Given the description of an element on the screen output the (x, y) to click on. 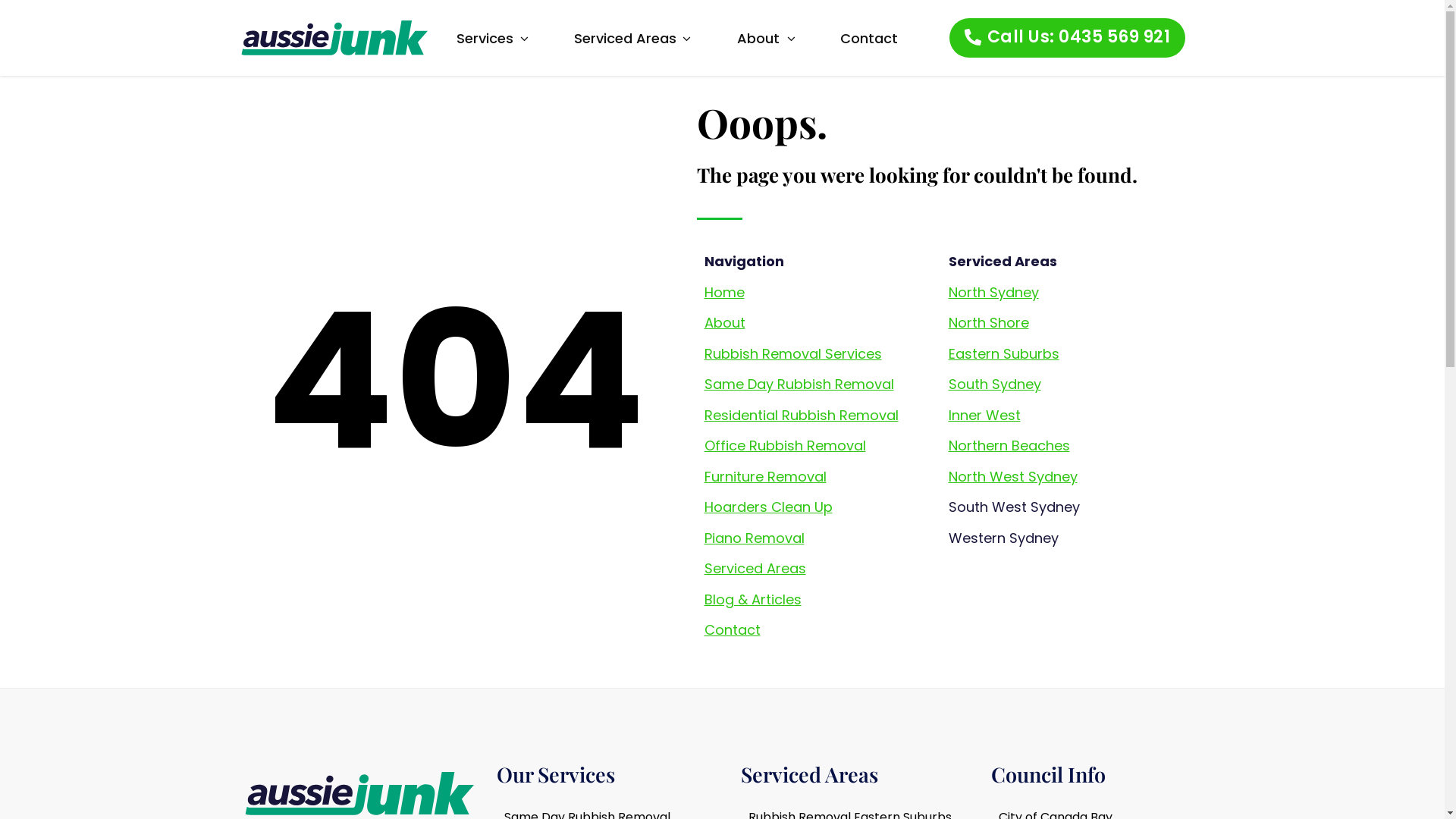
Piano Removal Element type: text (753, 537)
Hoarders Clean Up Element type: text (767, 506)
Furniture Removal Element type: text (764, 476)
South Sydney Element type: text (993, 383)
Home Element type: text (723, 291)
Office Rubbish Removal Element type: text (784, 445)
Rubbish Removal Services Element type: text (792, 353)
Blog & Articles Element type: text (751, 598)
North Shore Element type: text (987, 322)
Residential Rubbish Removal Element type: text (800, 414)
Northern Beaches Element type: text (1008, 445)
North Sydney Element type: text (992, 291)
About Element type: text (723, 322)
Same Day Rubbish Removal Element type: text (798, 383)
Eastern Suburbs Element type: text (1002, 353)
North West Sydney Element type: text (1011, 476)
Contact Element type: text (731, 629)
Inner West Element type: text (983, 414)
About Element type: text (760, 37)
Serviced Areas Element type: text (754, 567)
Services Element type: text (486, 37)
Serviced Areas Element type: text (626, 37)
Contact Element type: text (868, 37)
